Given the description of an element on the screen output the (x, y) to click on. 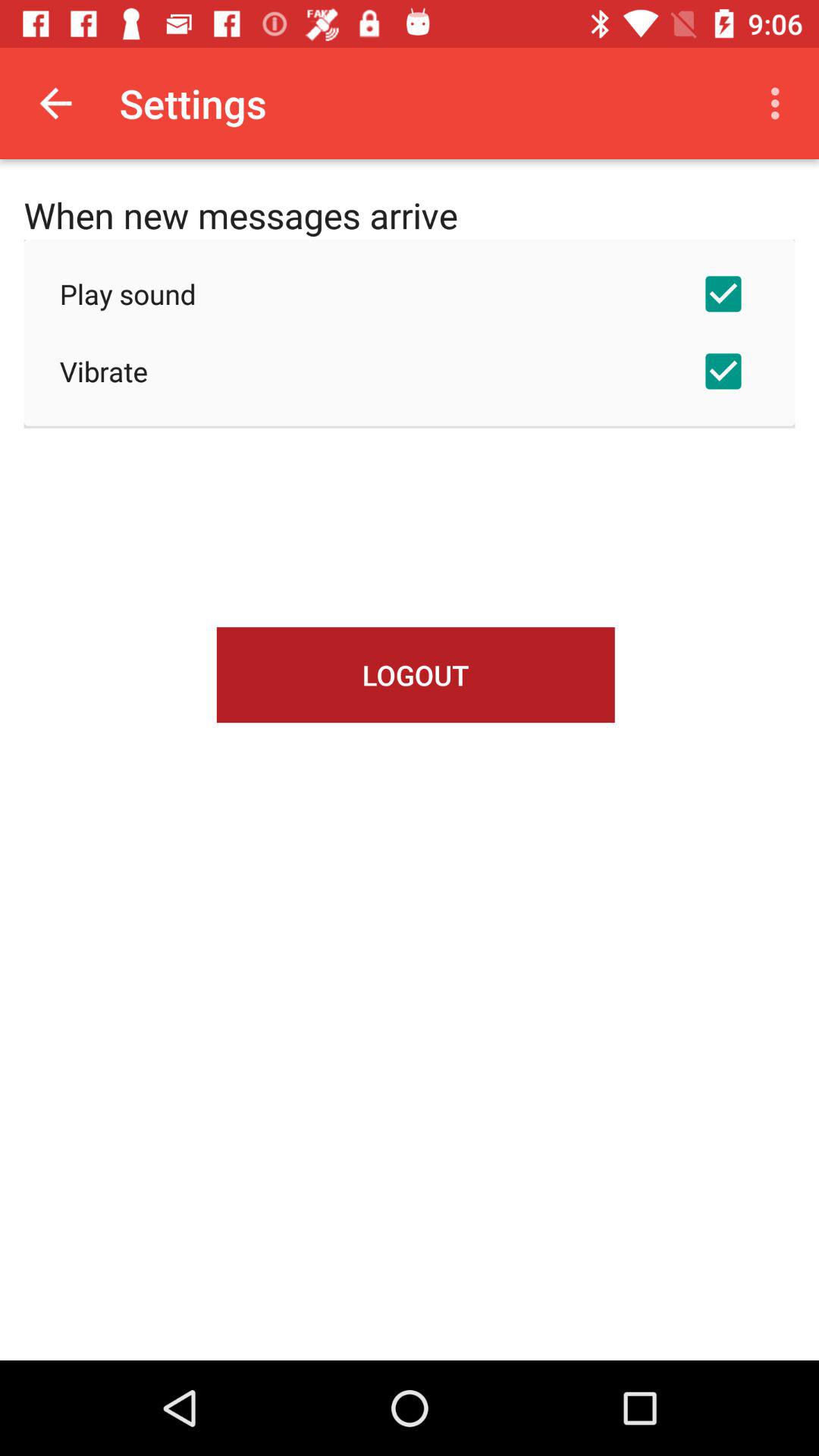
flip to the play sound (409, 293)
